Given the description of an element on the screen output the (x, y) to click on. 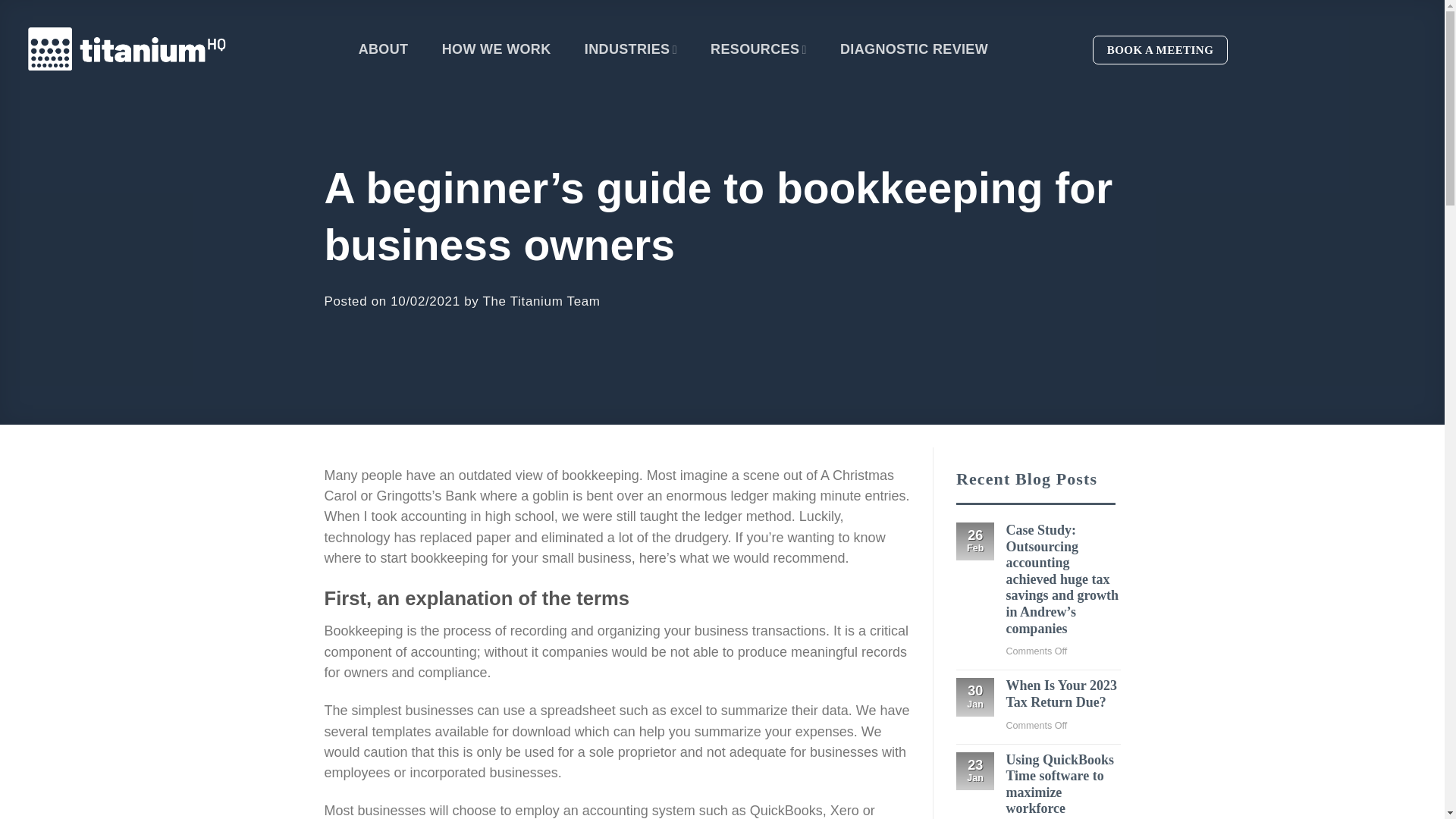
When Is Your 2023 Tax Return Due? (1062, 694)
When Is Your 2023 Tax Return Due? (1062, 694)
BOOK A MEETING (1160, 49)
DIAGNOSTIC REVIEW (914, 49)
INDUSTRIES (631, 49)
The Titanium Team (540, 301)
RESOURCES (758, 49)
Titanium HQ (127, 49)
HOW WE WORK (496, 49)
ABOUT (383, 49)
